Given the description of an element on the screen output the (x, y) to click on. 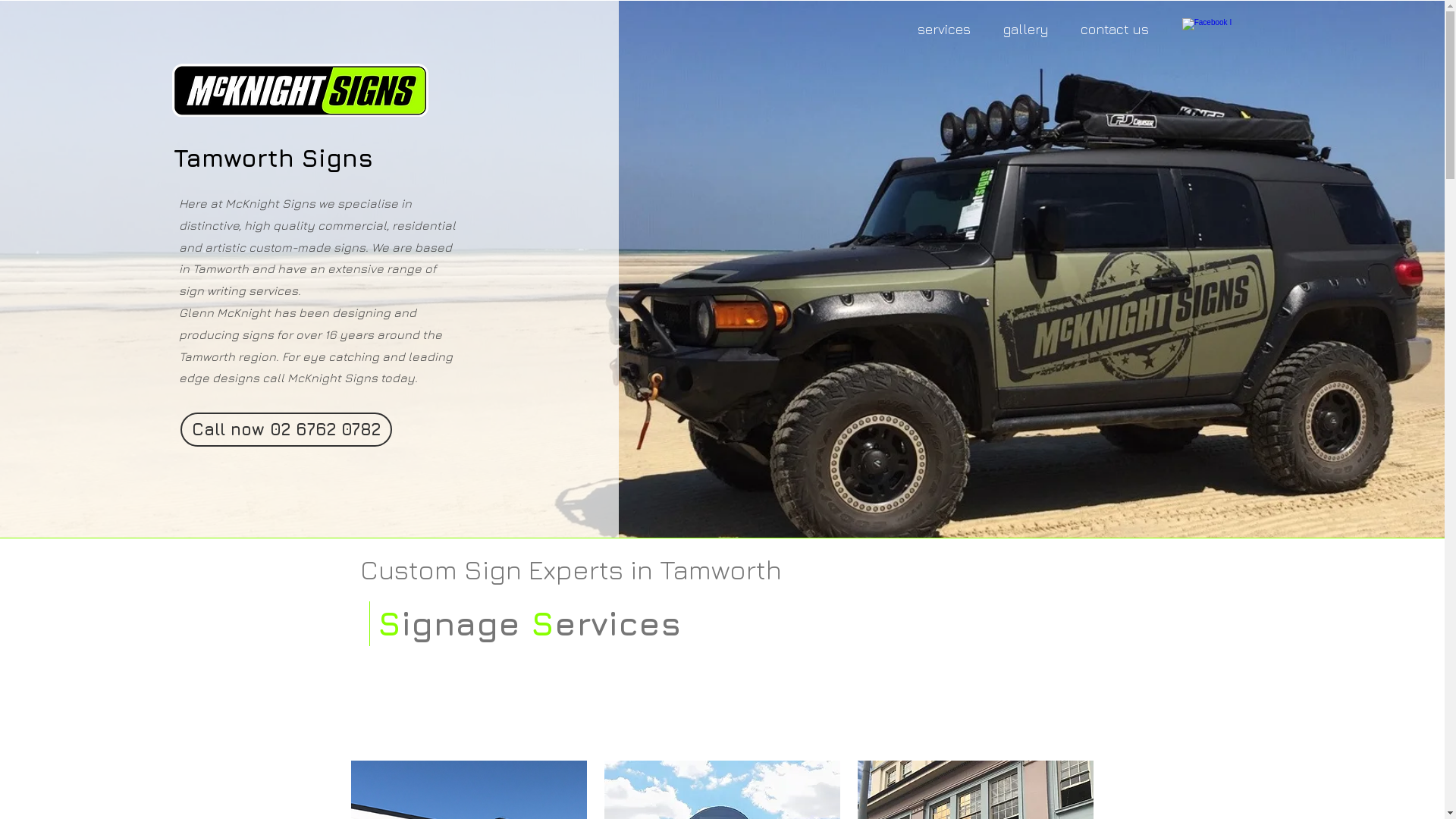
services Element type: text (944, 29)
gallery Element type: text (1025, 29)
contact us Element type: text (1114, 29)
Call now 02 6762 0782 Element type: text (286, 429)
